Given the description of an element on the screen output the (x, y) to click on. 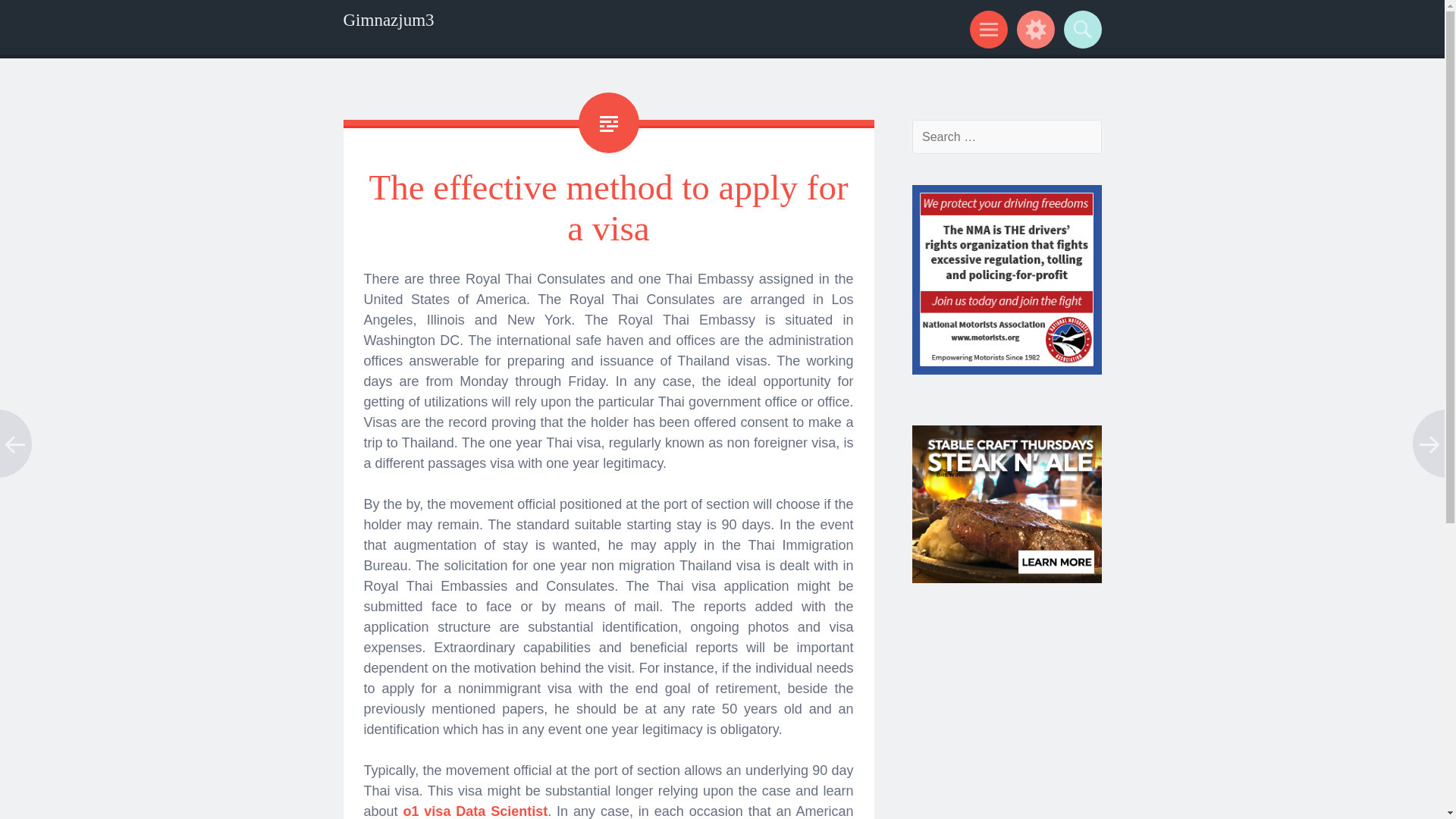
Gimnazjum3 (387, 19)
Search (1080, 29)
Widgets (1032, 29)
Menu (985, 29)
